Given the description of an element on the screen output the (x, y) to click on. 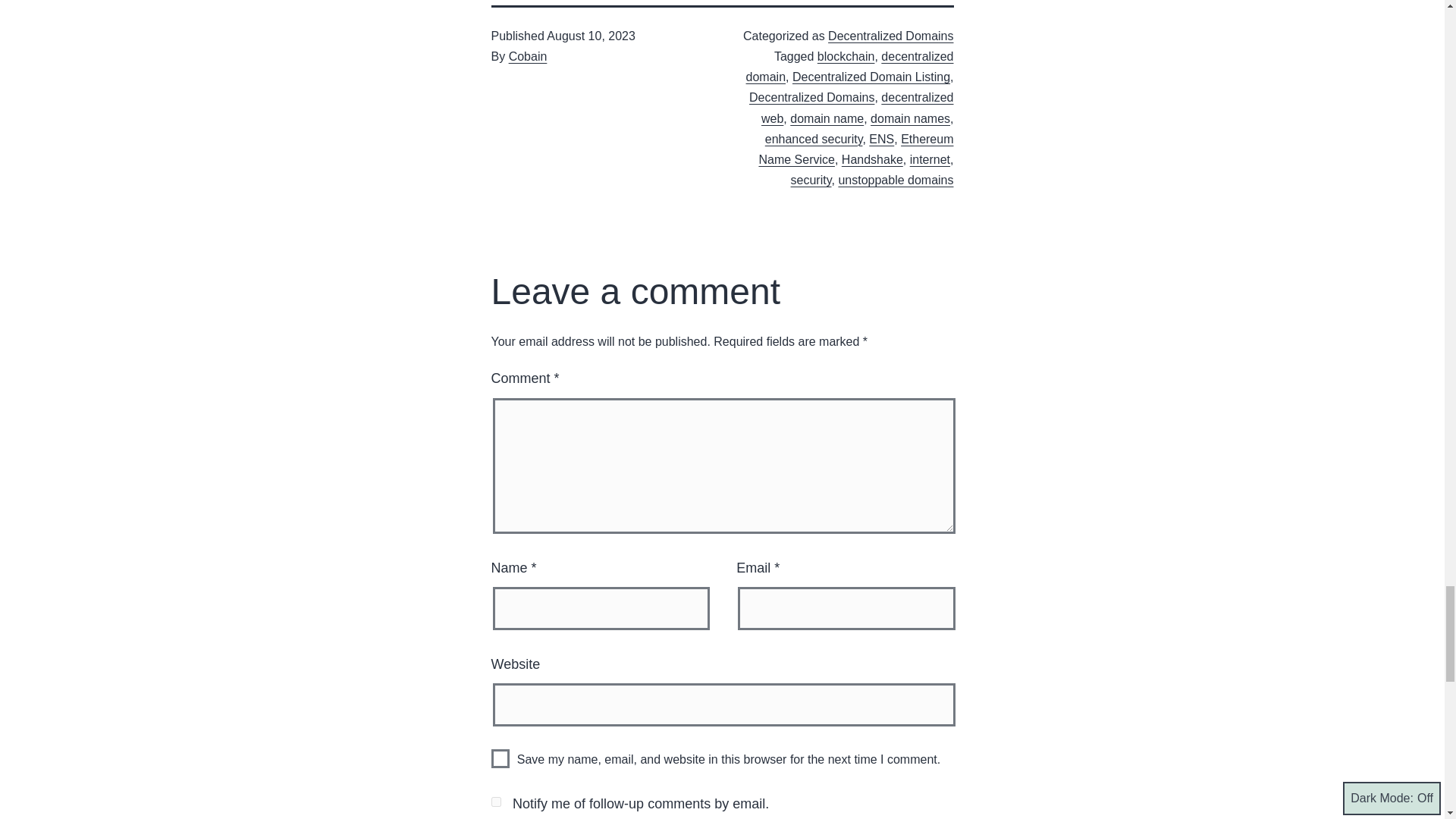
domain name (826, 118)
yes (500, 758)
Decentralized Domain Listing (871, 76)
Cobain (527, 56)
decentralized web (857, 107)
ENS (881, 138)
internet (930, 159)
Decentralized Domains (890, 35)
domain names (910, 118)
Decentralized Domains (812, 97)
blockchain (845, 56)
Handshake (871, 159)
Ethereum Name Service (855, 149)
decentralized domain (849, 66)
enhanced security (814, 138)
